Given the description of an element on the screen output the (x, y) to click on. 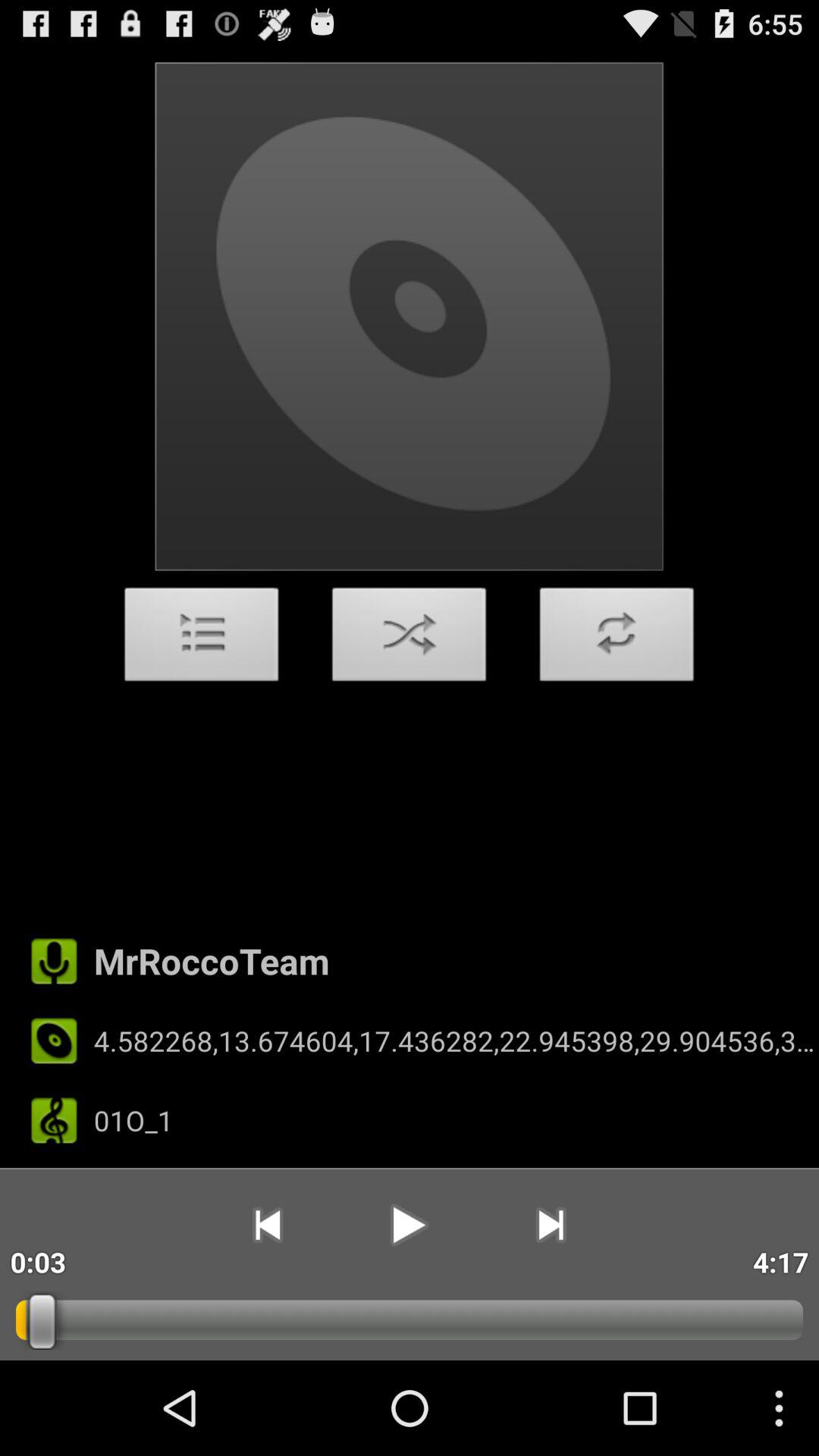
select the app to the left of 4:17 app (550, 1224)
